Given the description of an element on the screen output the (x, y) to click on. 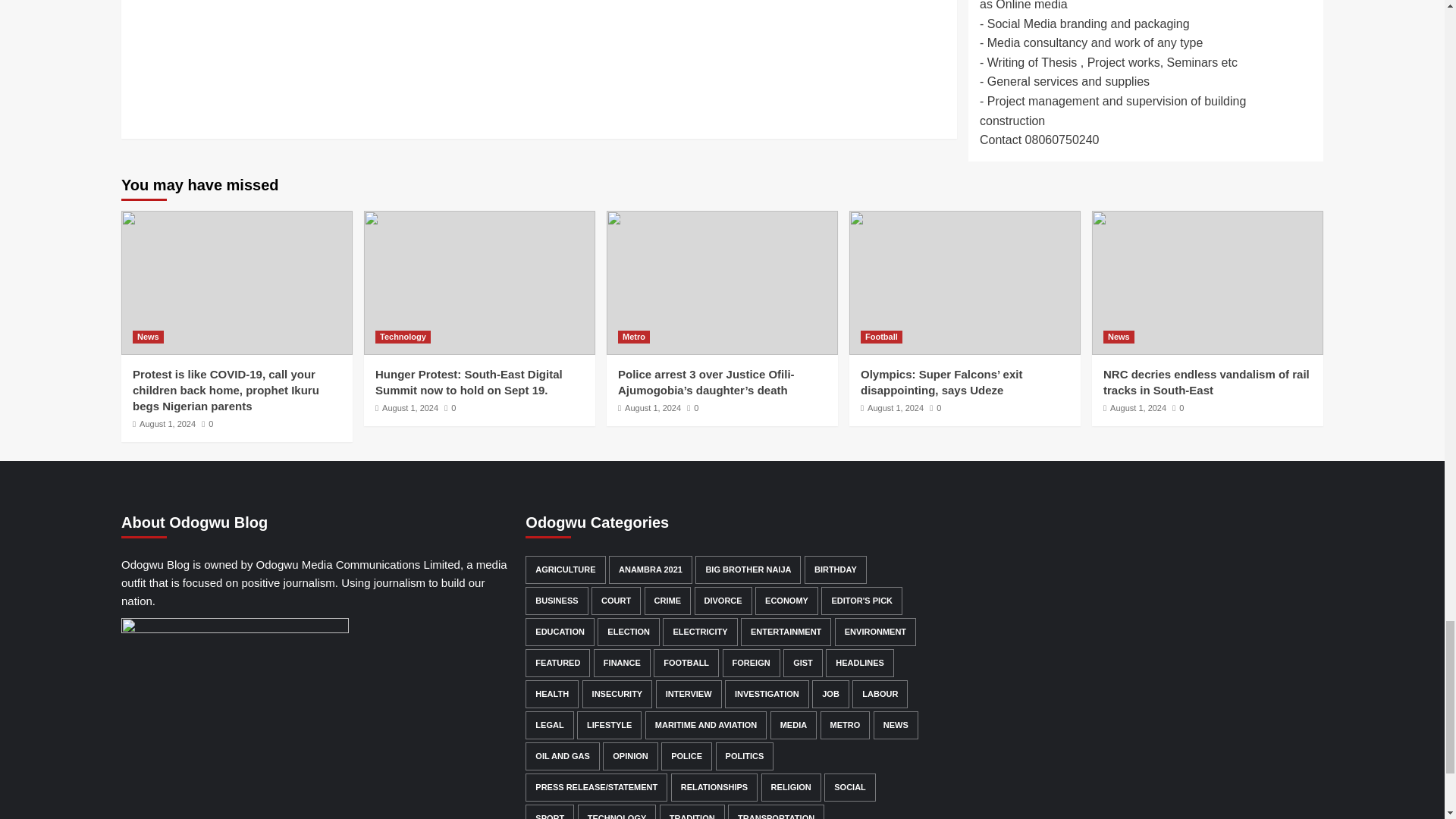
Comment Form (538, 60)
